Given the description of an element on the screen output the (x, y) to click on. 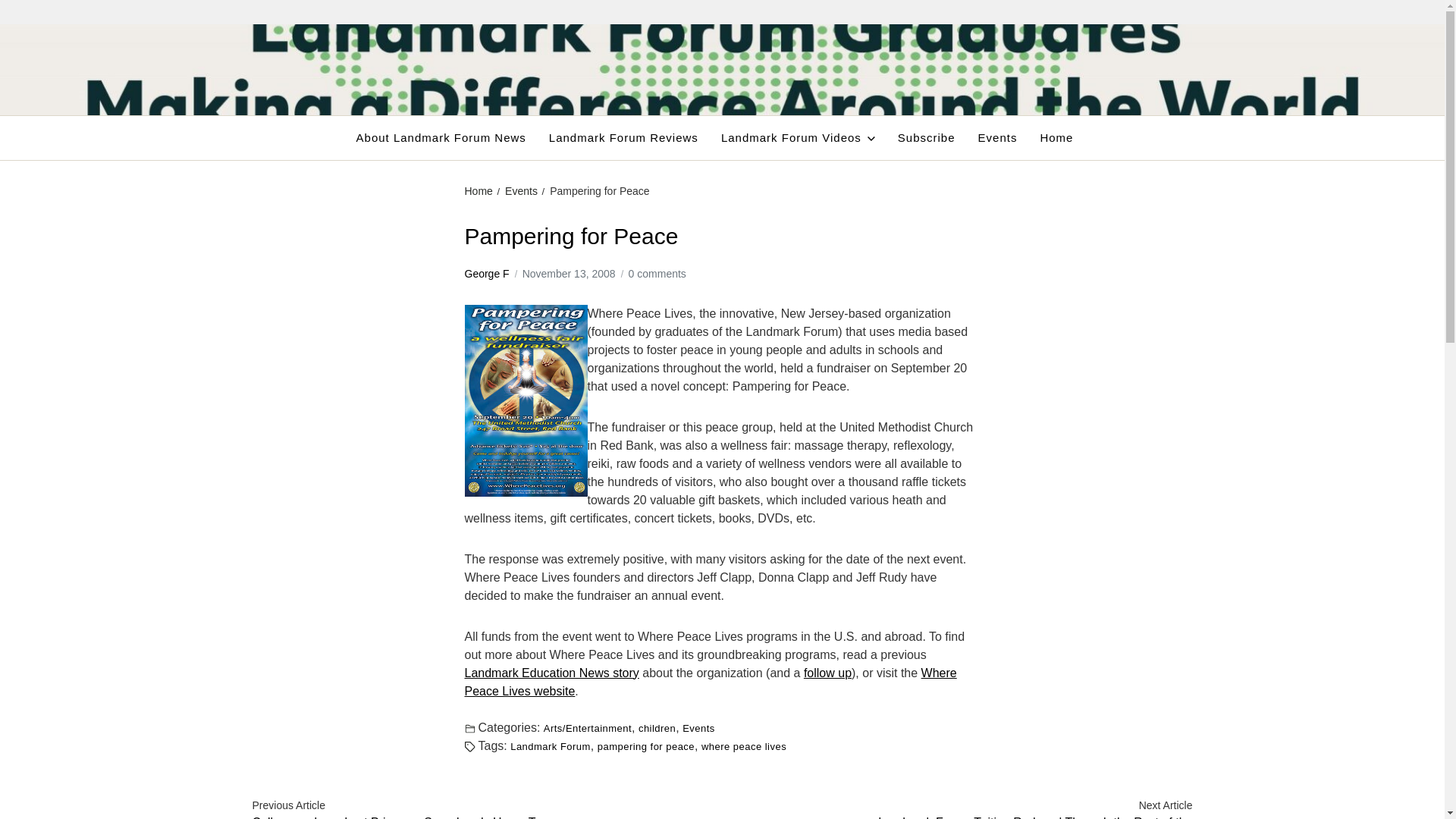
where peace lives (743, 745)
Home (478, 191)
Events (521, 191)
About Landmark Forum News (440, 137)
Landmark Forum (551, 745)
Landmark Education News story (551, 671)
Landmark Forum Videos (797, 137)
Subscribe (926, 137)
Where Peace Lives Landmark Education News story (551, 671)
Landmark Forum Reviews (623, 137)
children (657, 727)
Where Peace Lives website (710, 680)
0 comments (656, 273)
Where Peace Lives website (710, 680)
